Given the description of an element on the screen output the (x, y) to click on. 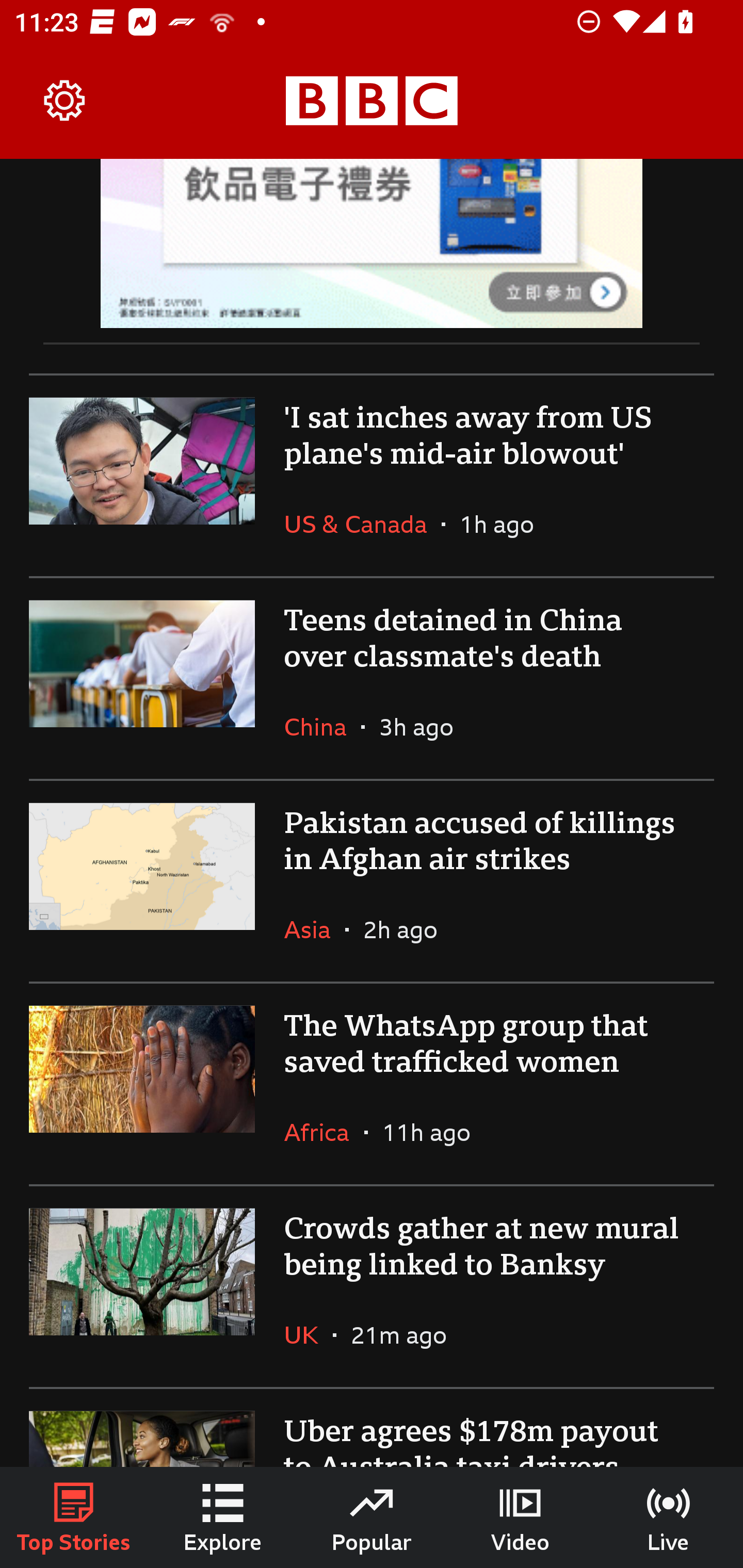
Settings (64, 100)
Advertisement (371, 243)
US & Canada In the section US & Canada (362, 523)
China In the section China (322, 726)
Asia In the section Asia (314, 929)
Africa In the section Africa (323, 1131)
UK In the section UK (307, 1334)
Explore (222, 1517)
Popular (371, 1517)
Video (519, 1517)
Live (668, 1517)
